Given the description of an element on the screen output the (x, y) to click on. 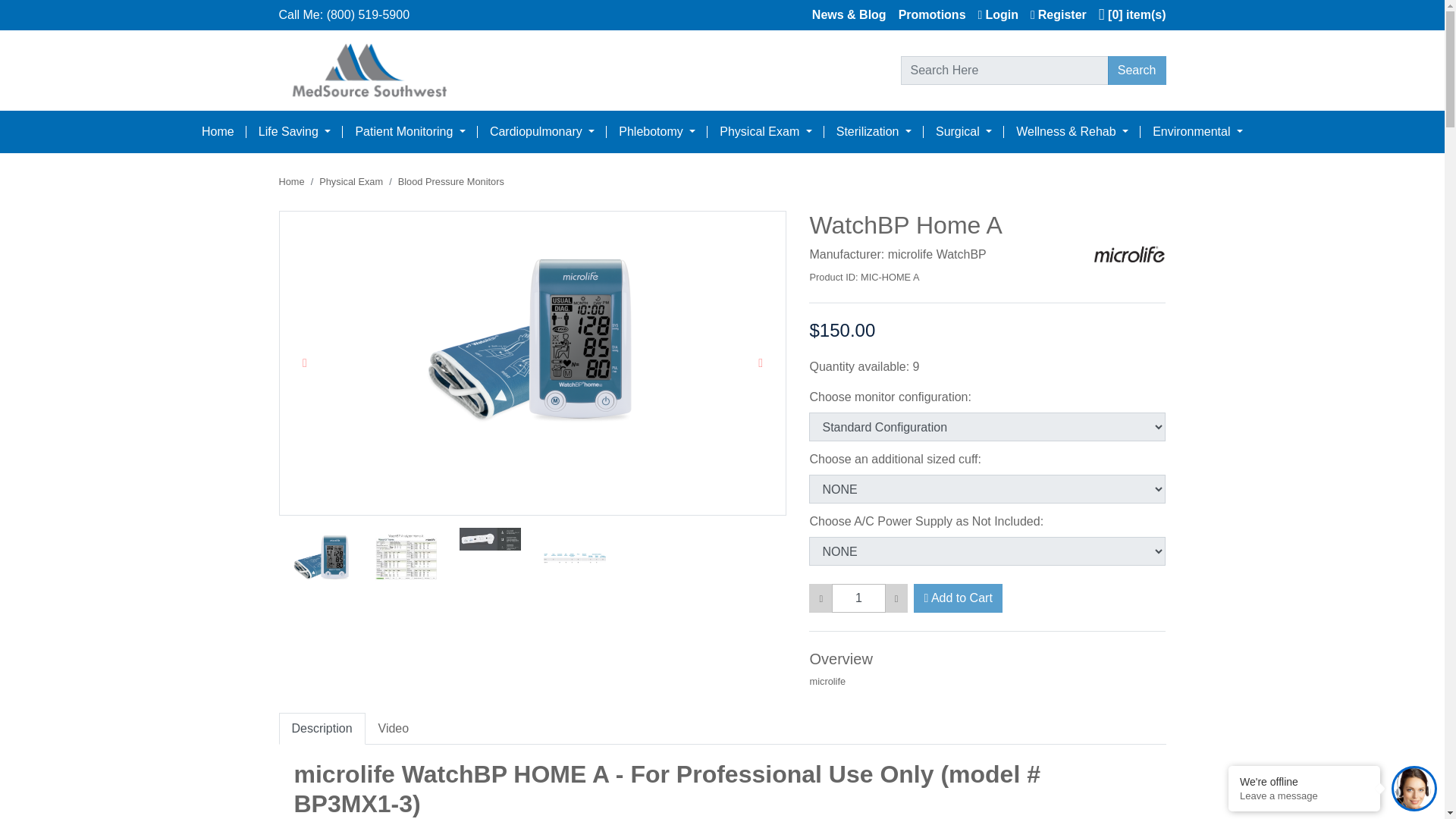
Life Saving (294, 132)
Promotions (926, 15)
Login (991, 15)
WatchBP Home A (321, 557)
Search (1137, 70)
Leave a message (1304, 795)
Cardiopulmonary (542, 132)
Patient Monitoring (409, 132)
Home (217, 132)
We're offline (1304, 781)
WatchBP Home A (532, 343)
MIC-HOME A (939, 277)
1 (858, 597)
Register (1051, 15)
